Given the description of an element on the screen output the (x, y) to click on. 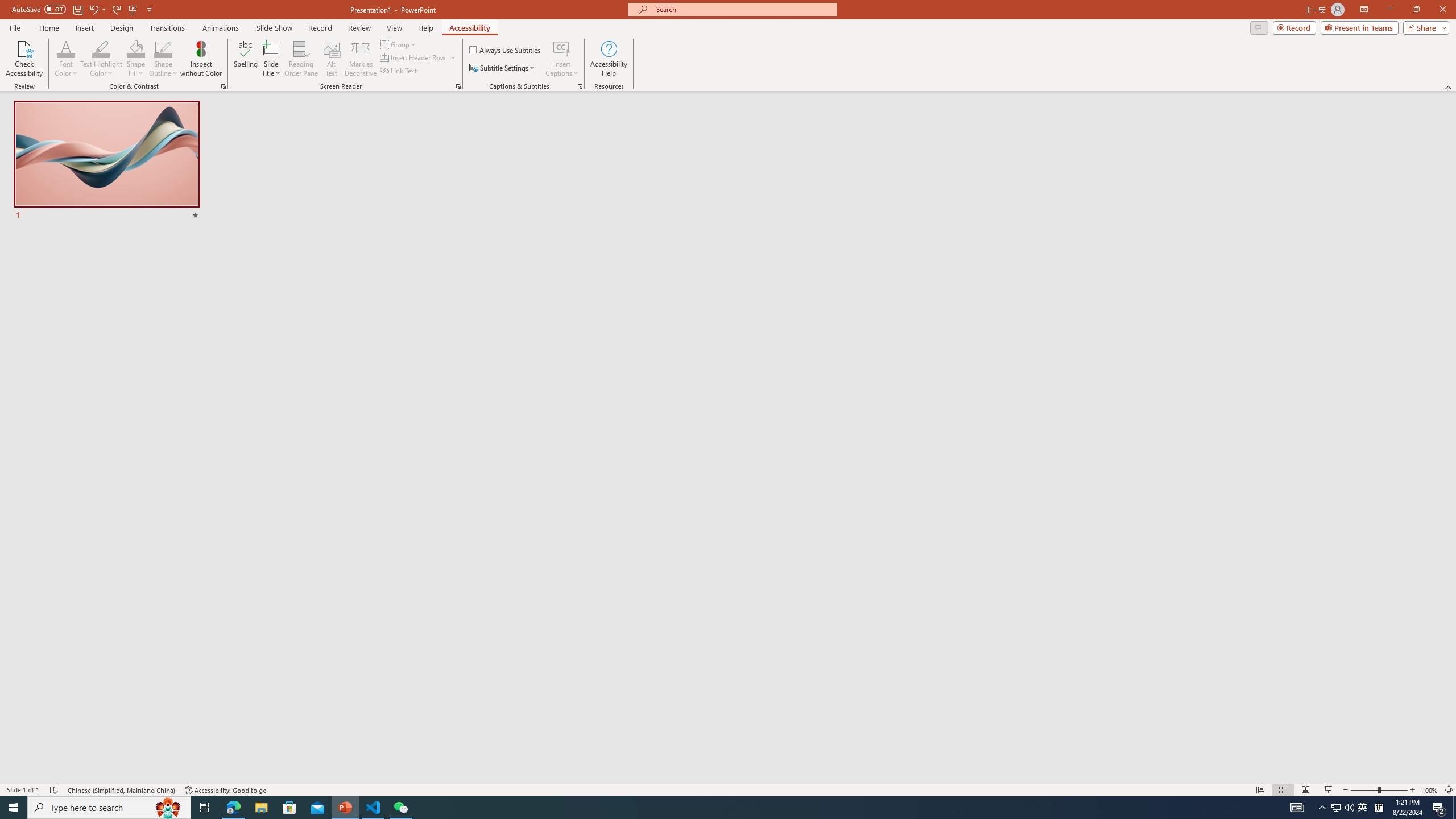
Slide Title (271, 58)
Always Use Subtitles (505, 49)
Reading Order Pane (301, 58)
